Given the description of an element on the screen output the (x, y) to click on. 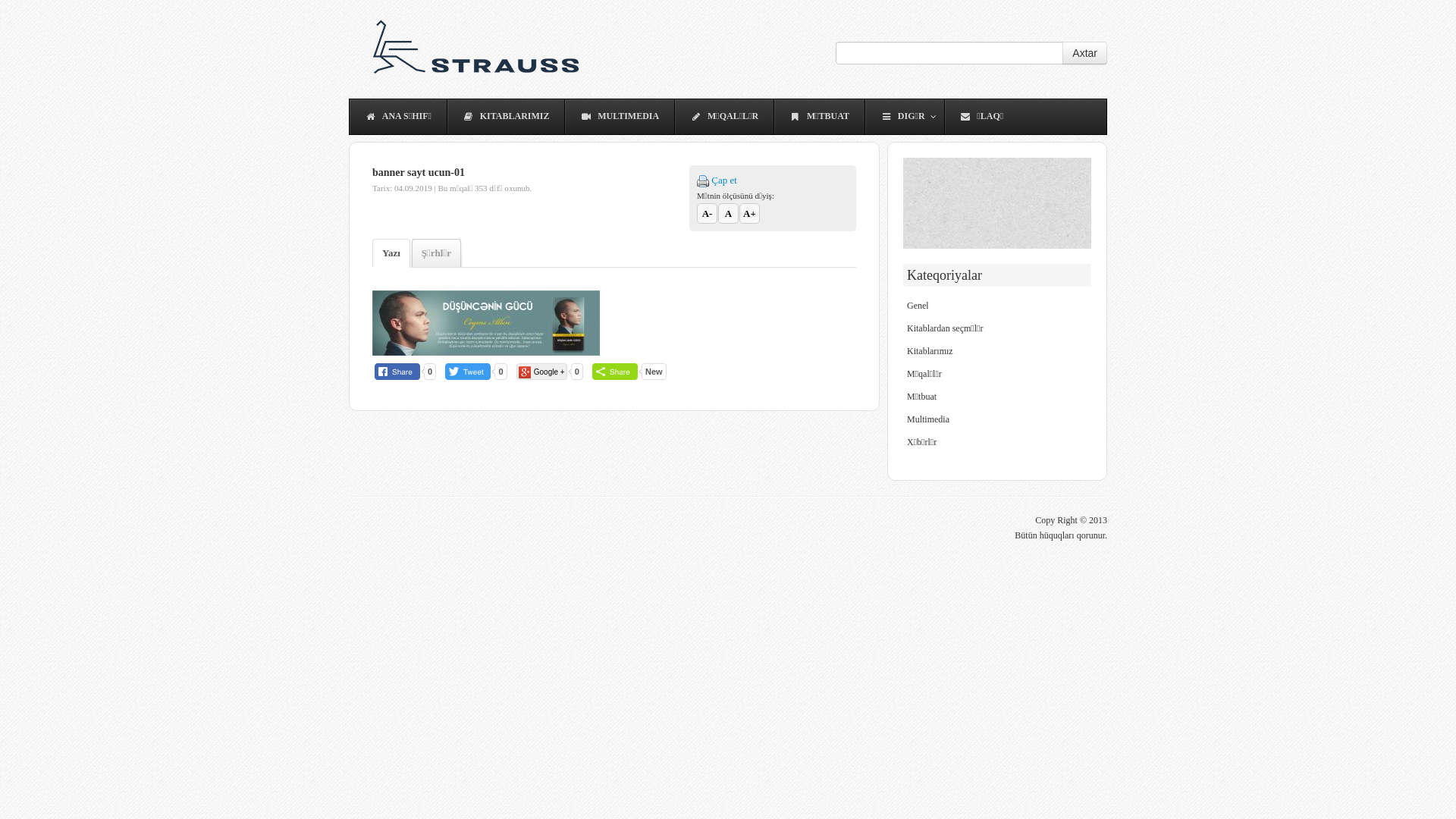
Axtar Element type: text (1084, 52)
KITABLARIMIZ Element type: text (505, 116)
A Element type: text (728, 213)
A+ Element type: text (749, 213)
MULTIMEDIA Element type: text (619, 116)
Fabula Kitab Element type: hover (477, 48)
A- Element type: text (706, 213)
Multimedia Element type: text (927, 419)
Genel Element type: text (917, 305)
